Given the description of an element on the screen output the (x, y) to click on. 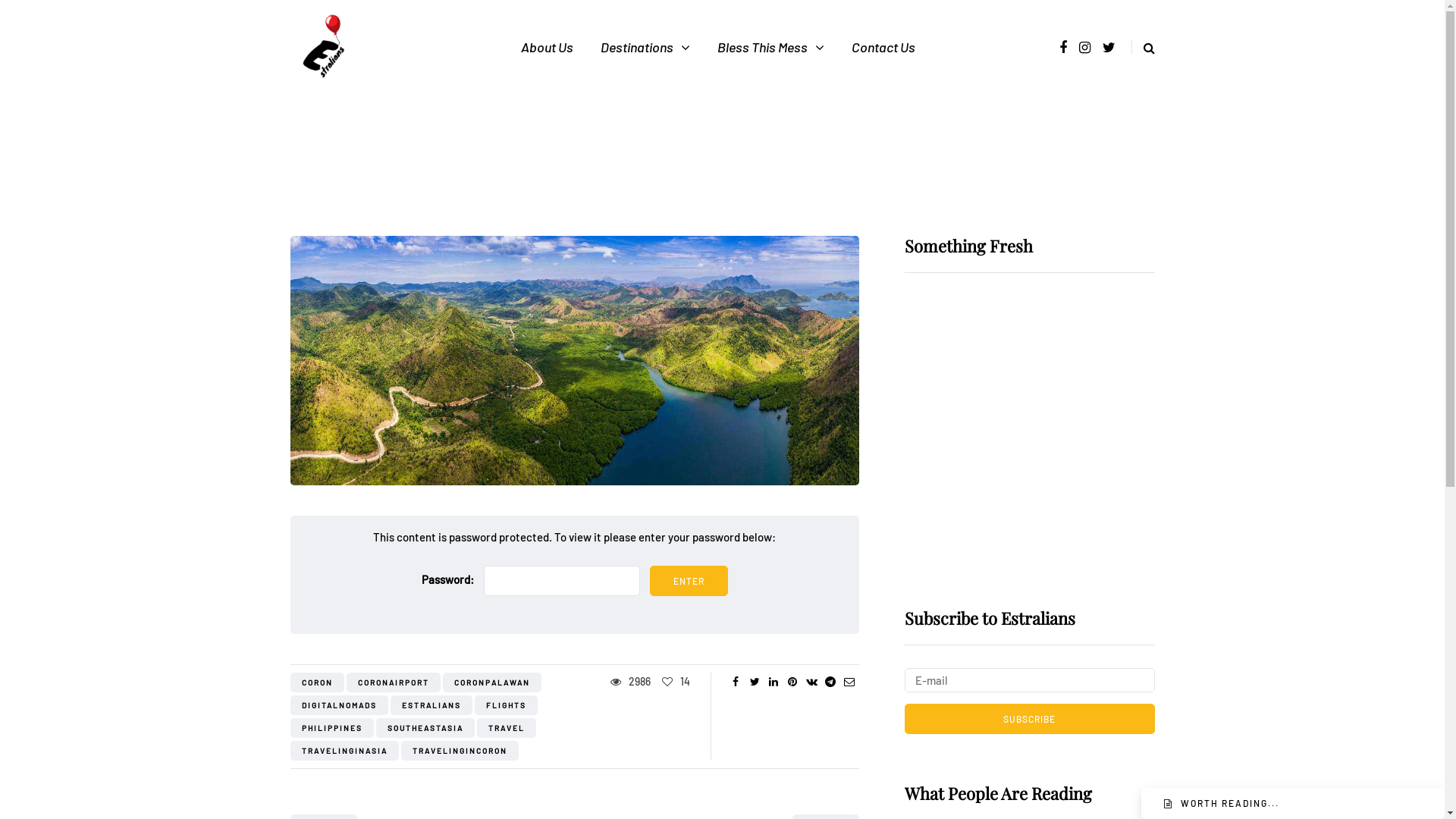
ESTRALIANS Element type: text (430, 705)
Share to Telegram Element type: hover (829, 681)
About Us Element type: text (546, 46)
Tweet this Element type: hover (753, 681)
Destinations Element type: text (644, 47)
CORON Element type: text (316, 682)
Enter Element type: text (688, 580)
Share by Email Element type: hover (849, 681)
SOUTHEASTASIA Element type: text (425, 727)
FLIGHTS Element type: text (505, 705)
TRAVELINGINCORON Element type: text (458, 750)
CORONAIRPORT Element type: text (392, 682)
SUBSCRIBE Element type: text (1028, 718)
Contact Us Element type: text (882, 46)
CORONPALAWAN Element type: text (491, 682)
Share with Facebook Element type: hover (735, 681)
DIGITALNOMADS Element type: text (338, 705)
WORTH READING... Element type: text (1229, 802)
Pin this Element type: hover (791, 681)
TRAVELINGINASIA Element type: text (343, 750)
PHILIPPINES Element type: text (331, 727)
TRAVEL Element type: text (505, 727)
Bless This Mess Element type: text (770, 47)
Share with VKontakte Element type: hover (811, 681)
Search Element type: text (42, 15)
Share with LinkedIn Element type: hover (773, 681)
